Given the description of an element on the screen output the (x, y) to click on. 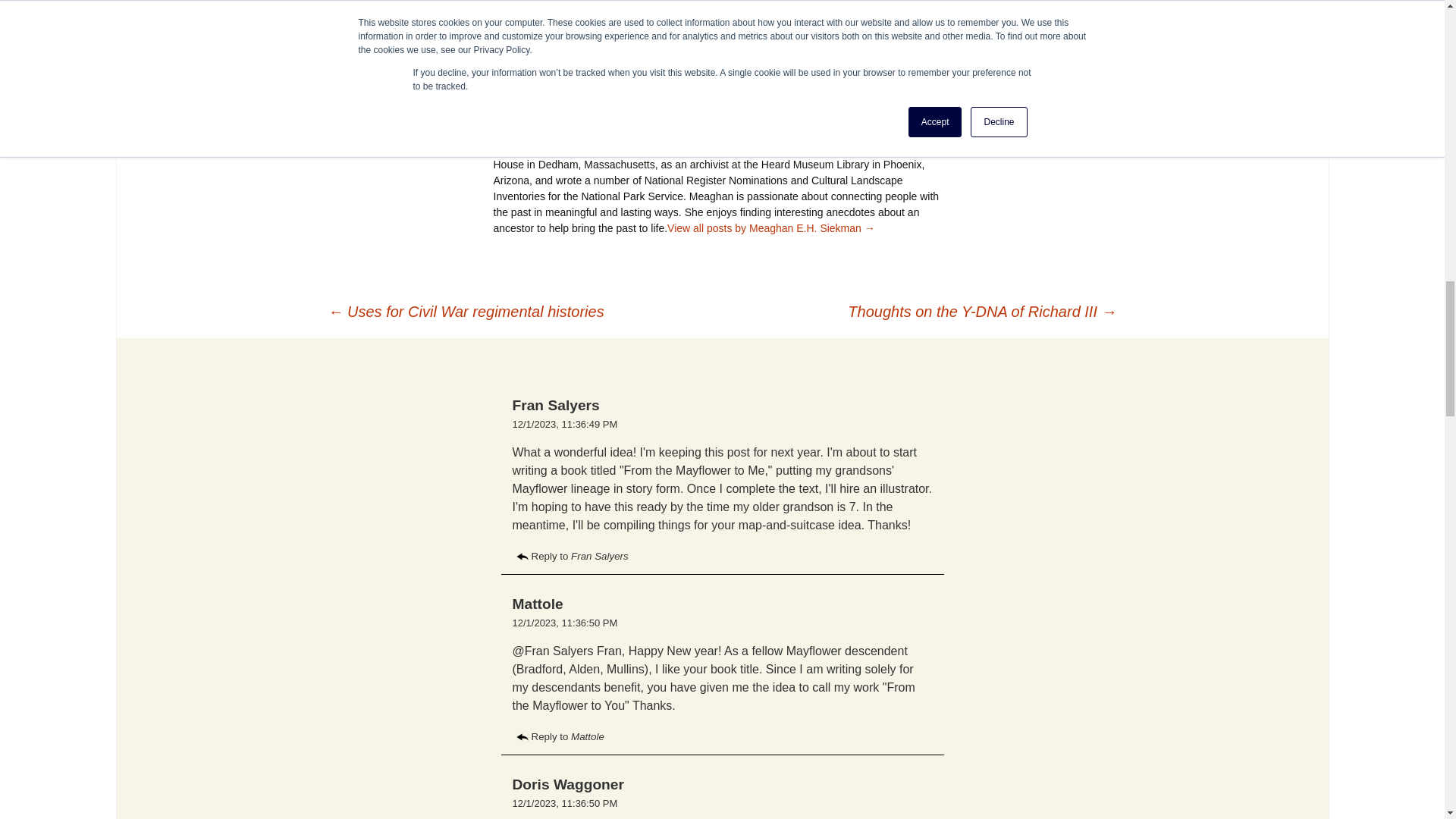
Click to share on Pinterest (590, 14)
Click to share on Facebook (533, 14)
Click to share on Twitter (560, 14)
Click to email this to a friend (504, 14)
